Given the description of an element on the screen output the (x, y) to click on. 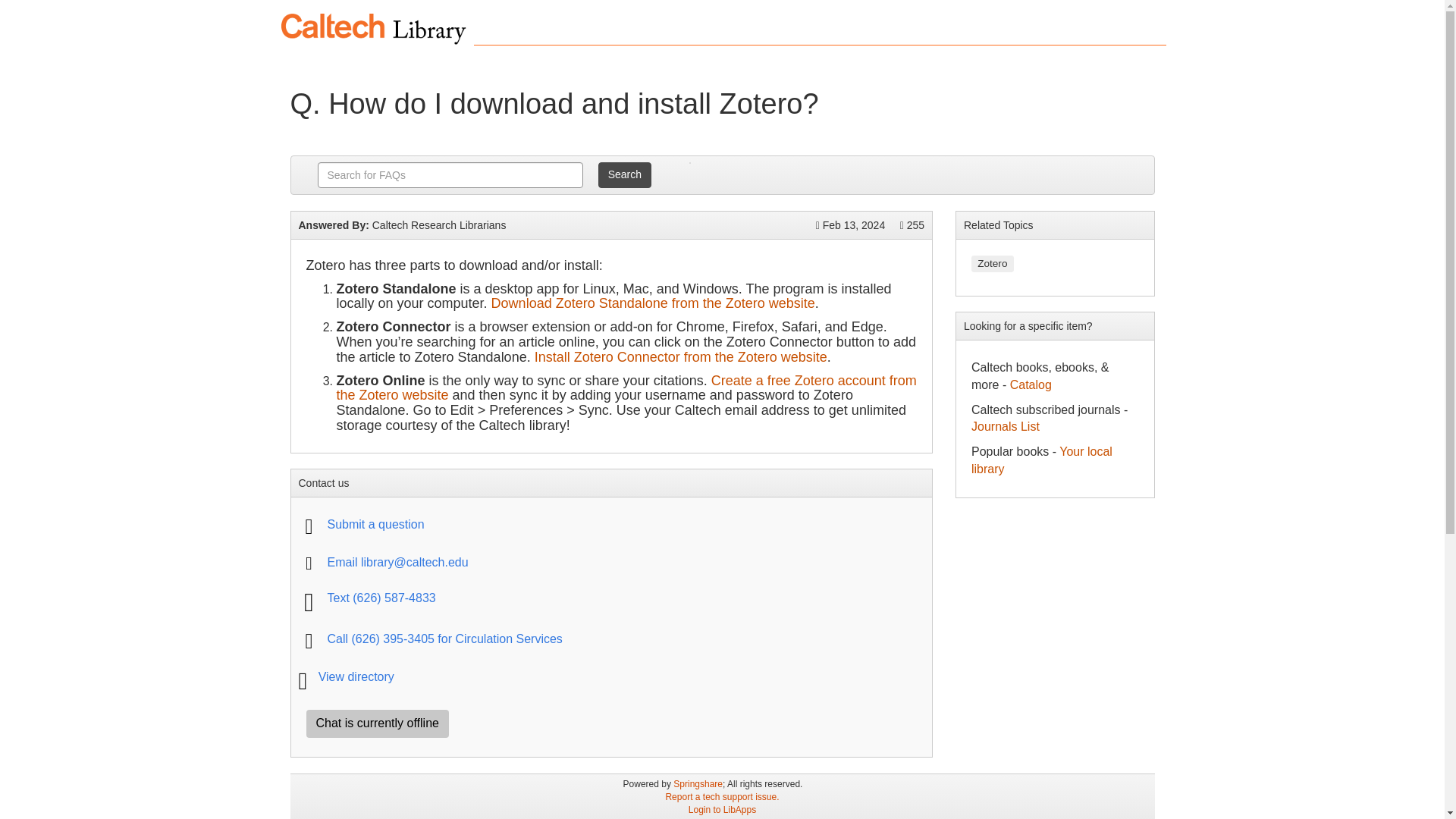
Last Updated (850, 224)
Search (624, 175)
Views (911, 224)
Install Zotero Connector from the Zotero website (680, 356)
Create a free Zotero account from the Zotero website (626, 388)
Download Zotero Standalone from the Zotero website (653, 303)
